Given the description of an element on the screen output the (x, y) to click on. 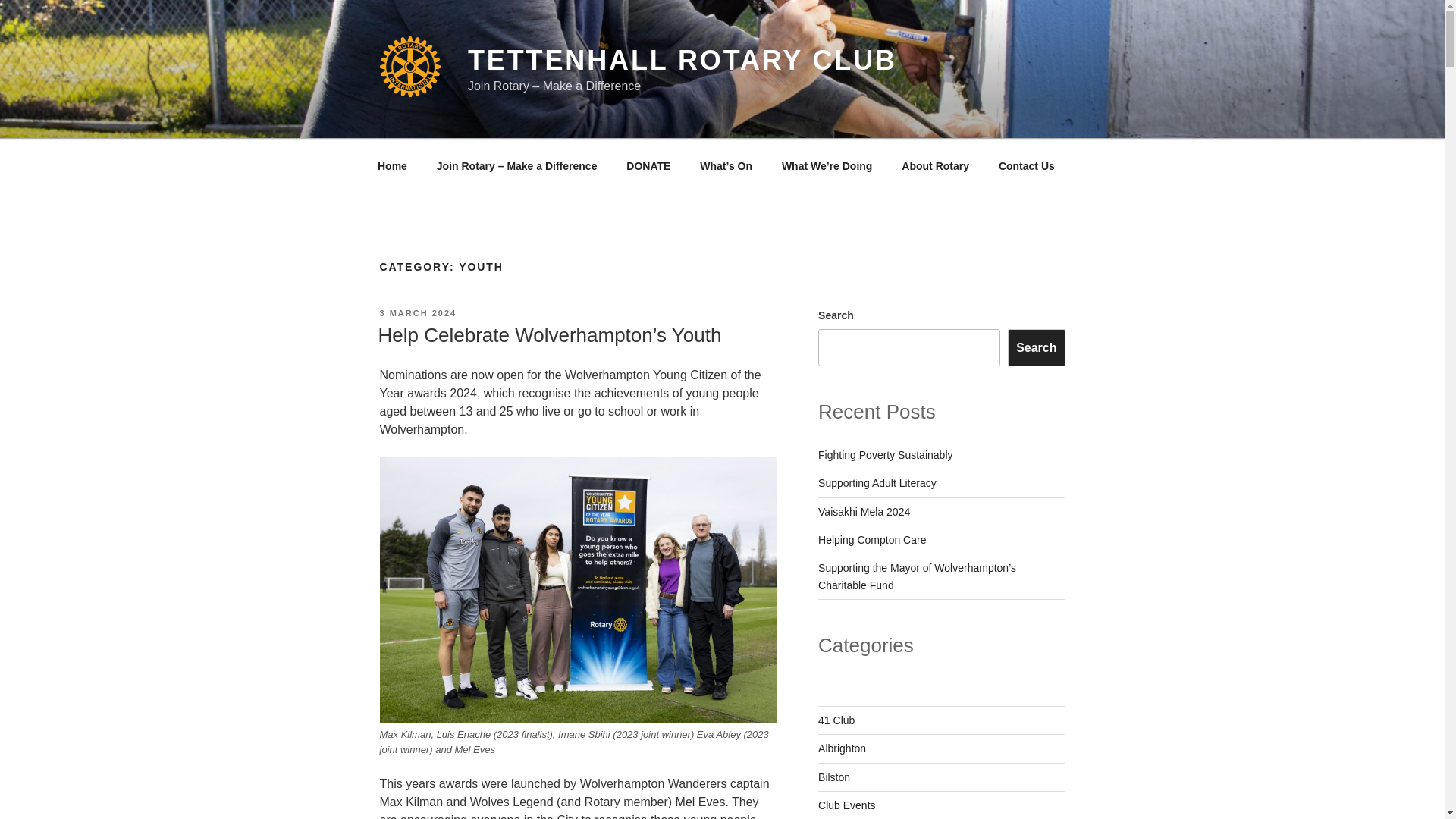
About Rotary (935, 165)
Contact Us (1026, 165)
TETTENHALL ROTARY CLUB (681, 60)
DONATE (648, 165)
3 MARCH 2024 (417, 312)
Home (392, 165)
